Given the description of an element on the screen output the (x, y) to click on. 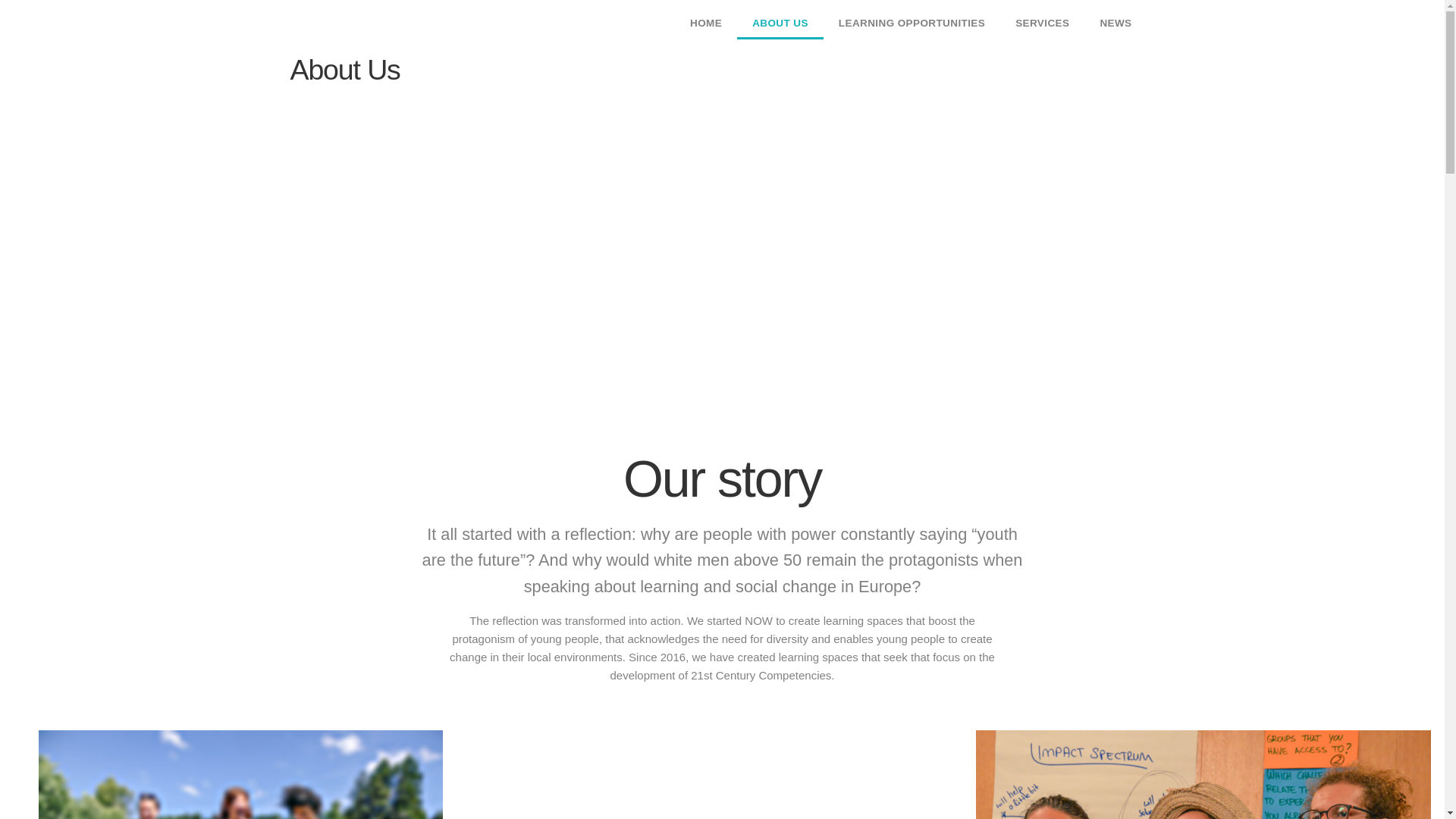
LEARNING OPPORTUNITIES (912, 23)
SERVICES (1042, 23)
NEWS (1115, 23)
ABOUT US (780, 23)
HOME (705, 23)
